Given the description of an element on the screen output the (x, y) to click on. 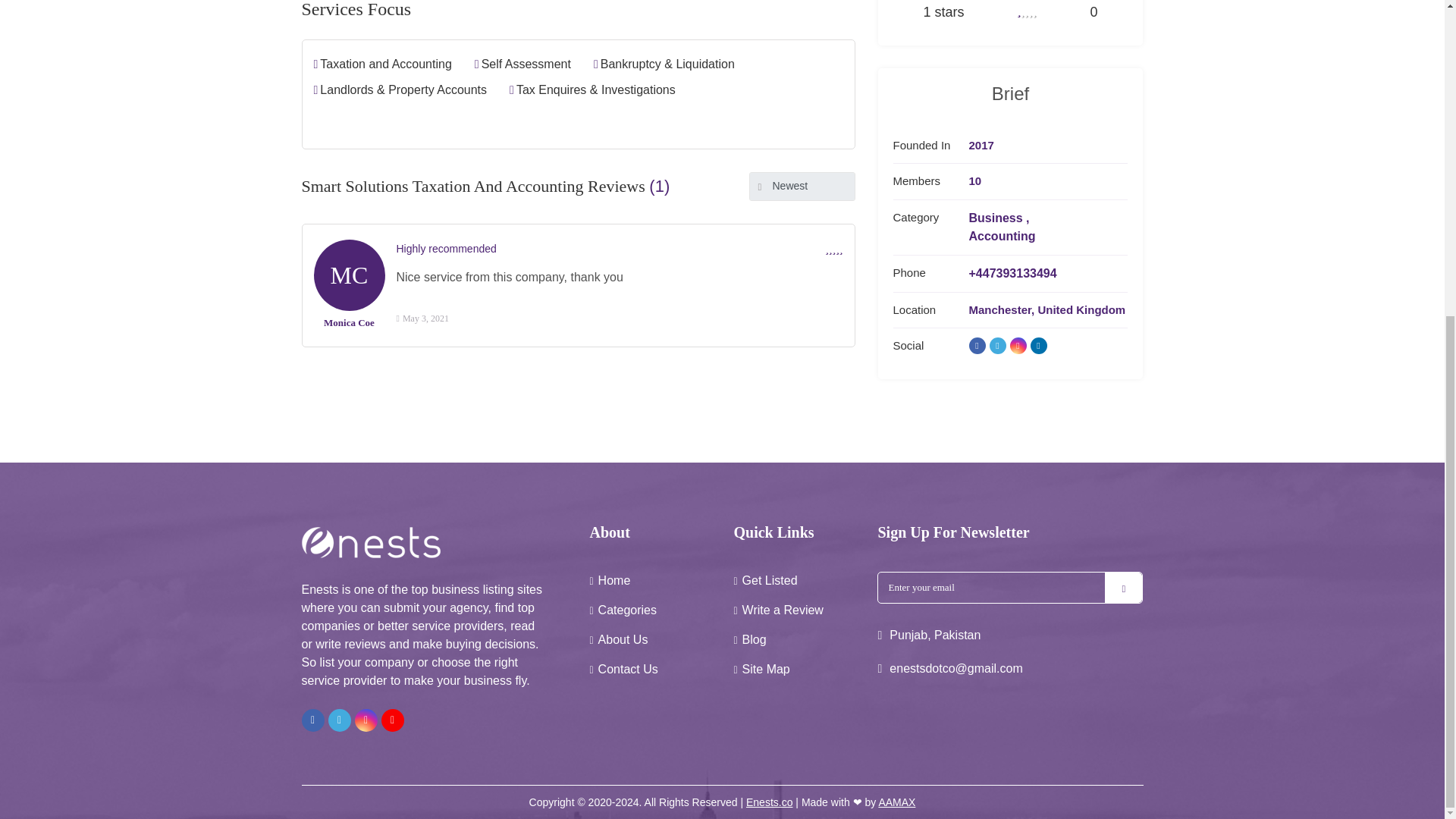
Highly recommended (446, 248)
AAMAX (896, 802)
Site Map (766, 668)
Write a Review (783, 609)
Business , (1002, 218)
About Us (622, 639)
Accounting (1002, 236)
Get Listed (769, 580)
Contact Us (628, 668)
Home (614, 580)
Monica Coe (348, 321)
Blog (754, 639)
Categories (627, 609)
Enests.co (768, 802)
